Given the description of an element on the screen output the (x, y) to click on. 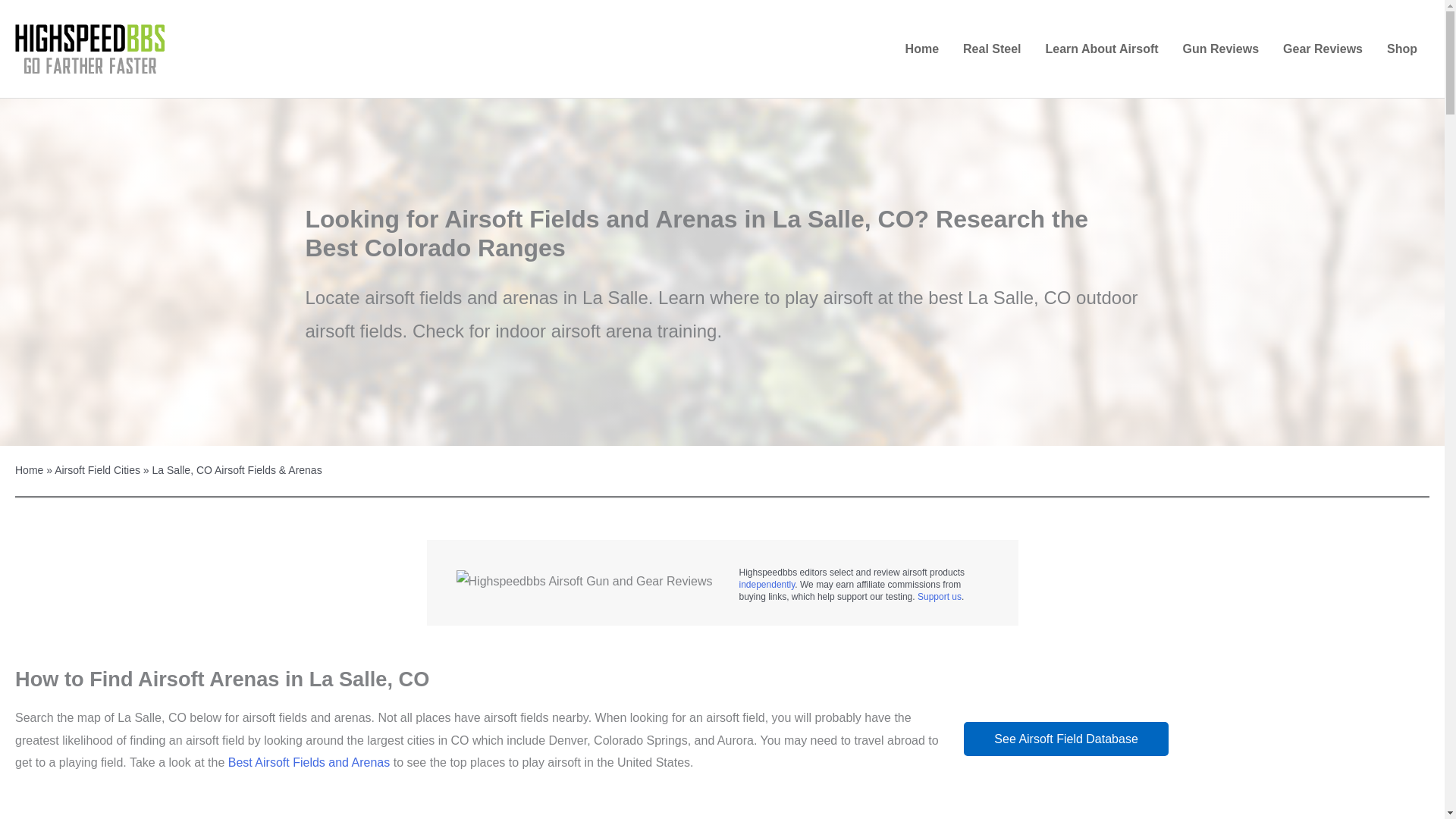
Real Steel (991, 49)
Learn About Airsoft (1101, 49)
Gear Reviews (1322, 49)
Gun Reviews (1220, 49)
Home (921, 49)
